Given the description of an element on the screen output the (x, y) to click on. 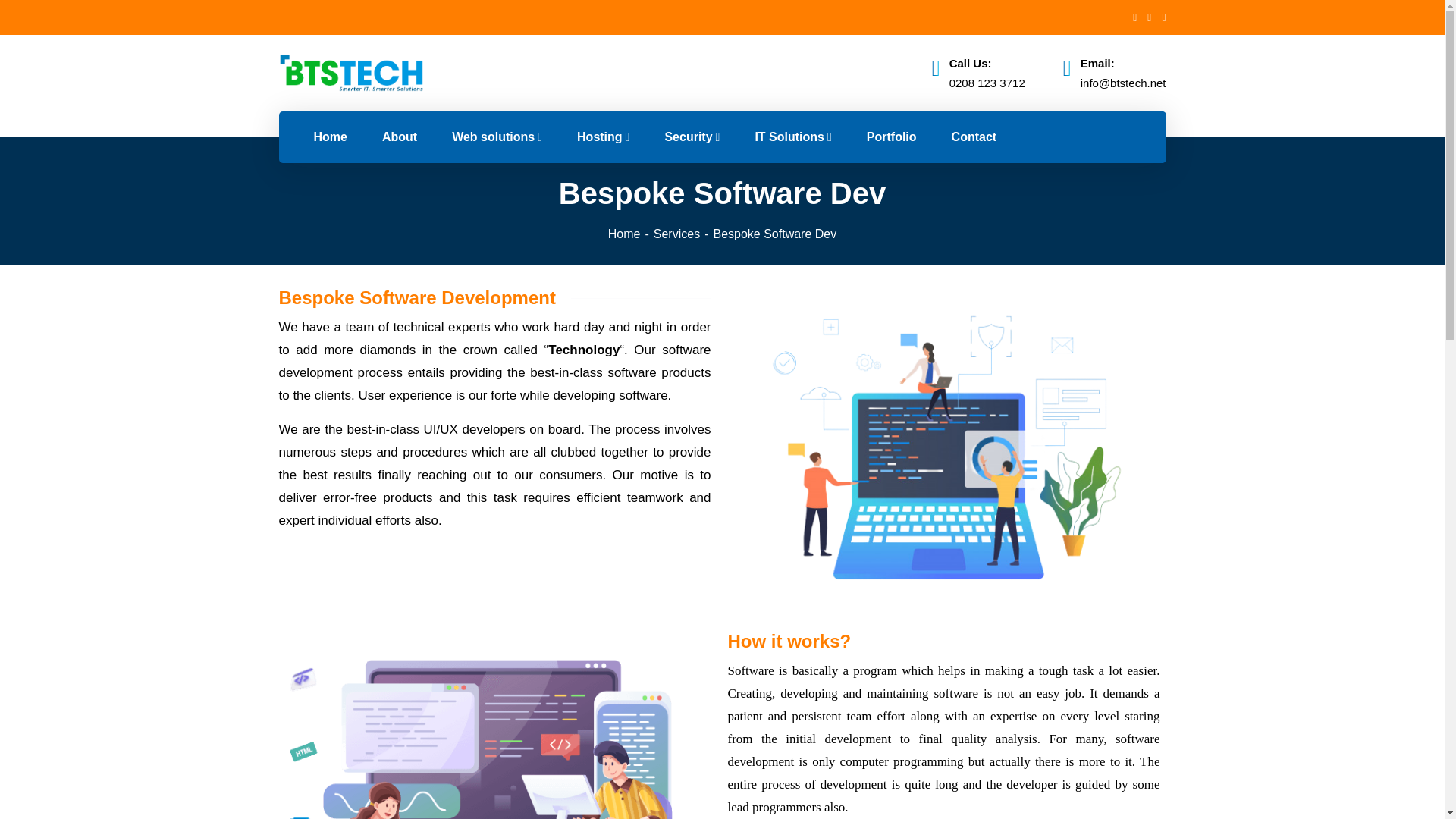
Portfolio (891, 136)
Hosting (602, 136)
IT Solutions (792, 136)
Home (329, 136)
Security (691, 136)
Web solutions (496, 136)
About (399, 136)
Contact (974, 136)
BTS Technology Ltd. (352, 72)
